Given the description of an element on the screen output the (x, y) to click on. 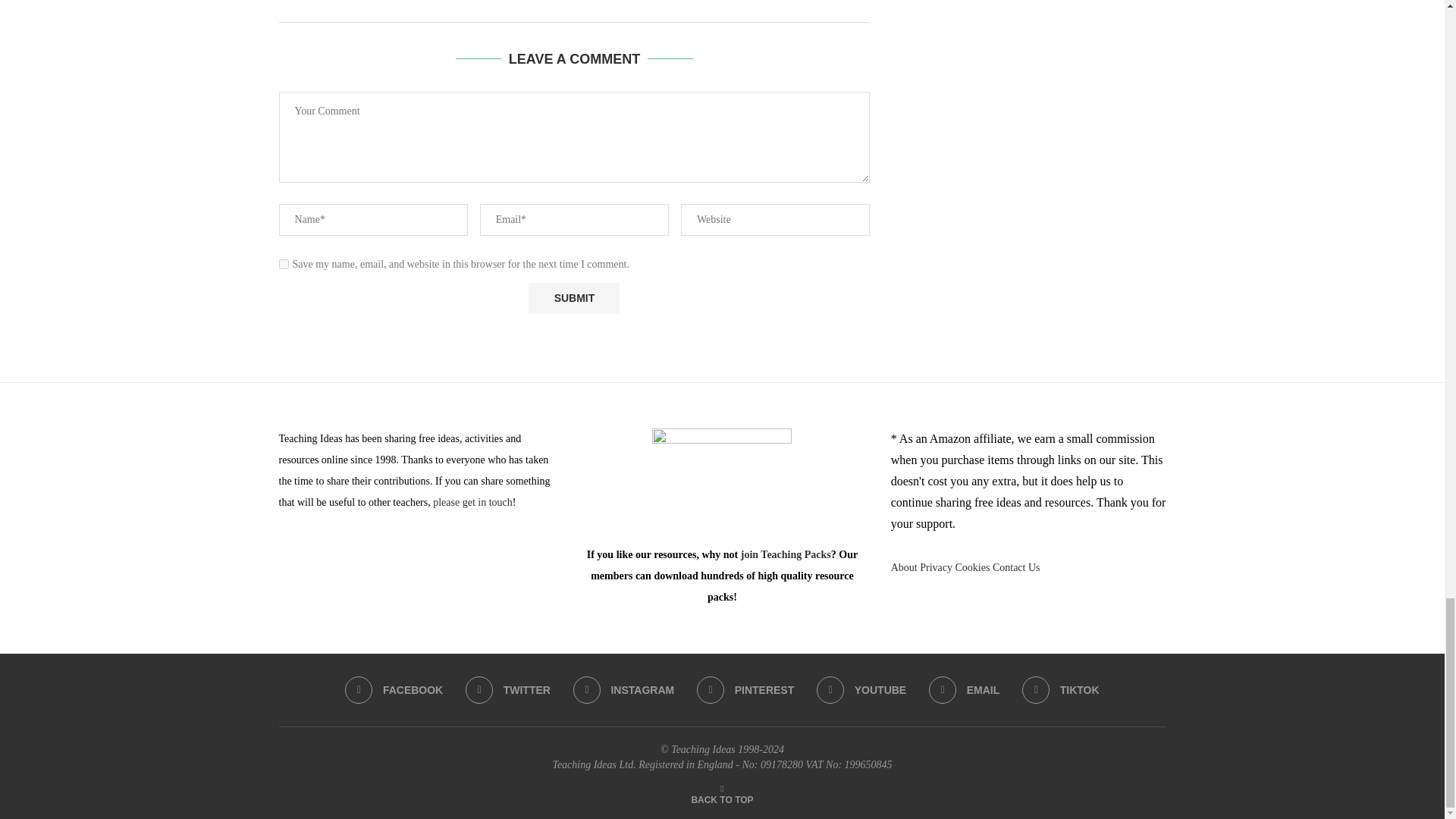
Submit (574, 297)
yes (283, 264)
